Given the description of an element on the screen output the (x, y) to click on. 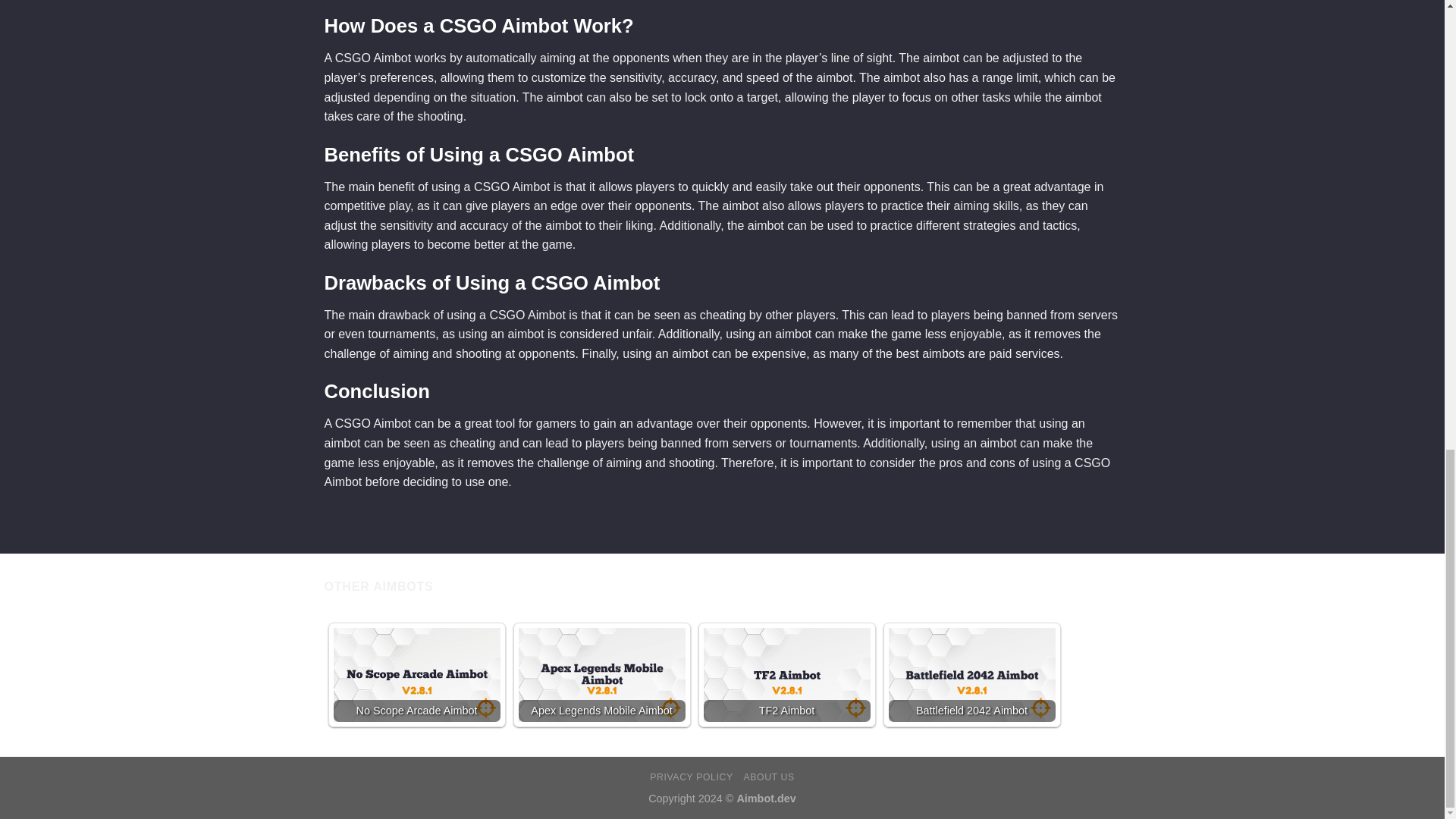
Apex Legends Mobile Aimbot (601, 674)
Battlefield 2042 Aimbot (971, 674)
No Scope Arcade Aimbot (416, 674)
Apex Legends Mobile Aimbot (601, 674)
No Scope Arcade Aimbot (416, 674)
TF2 Aimbot (786, 674)
TF2 Aimbot (786, 674)
ABOUT US (767, 777)
Battlefield 2042 Aimbot (971, 674)
PRIVACY POLICY (690, 777)
